Given the description of an element on the screen output the (x, y) to click on. 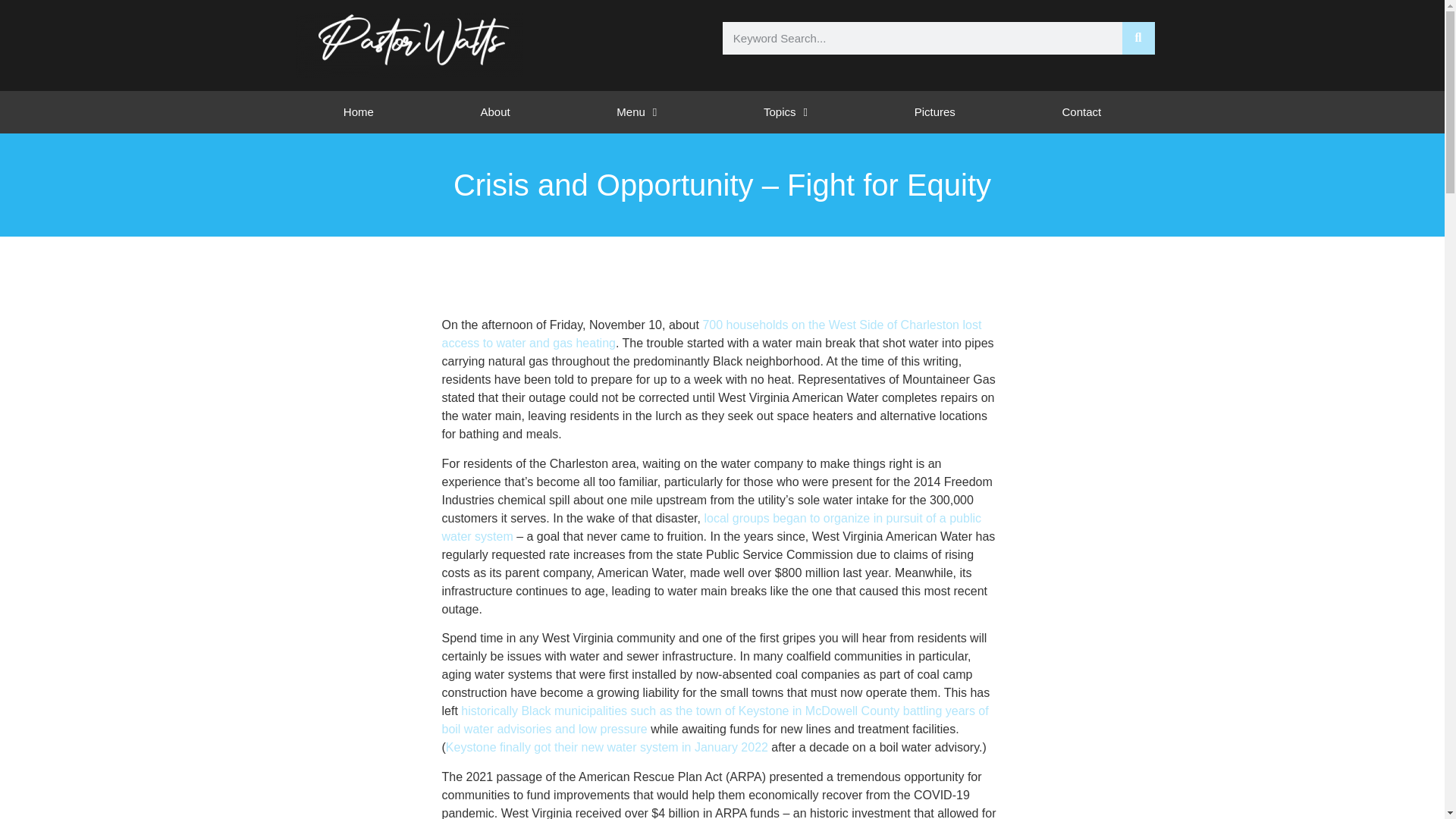
Topics (785, 111)
About (494, 111)
Menu (636, 111)
Home (357, 111)
